Given the description of an element on the screen output the (x, y) to click on. 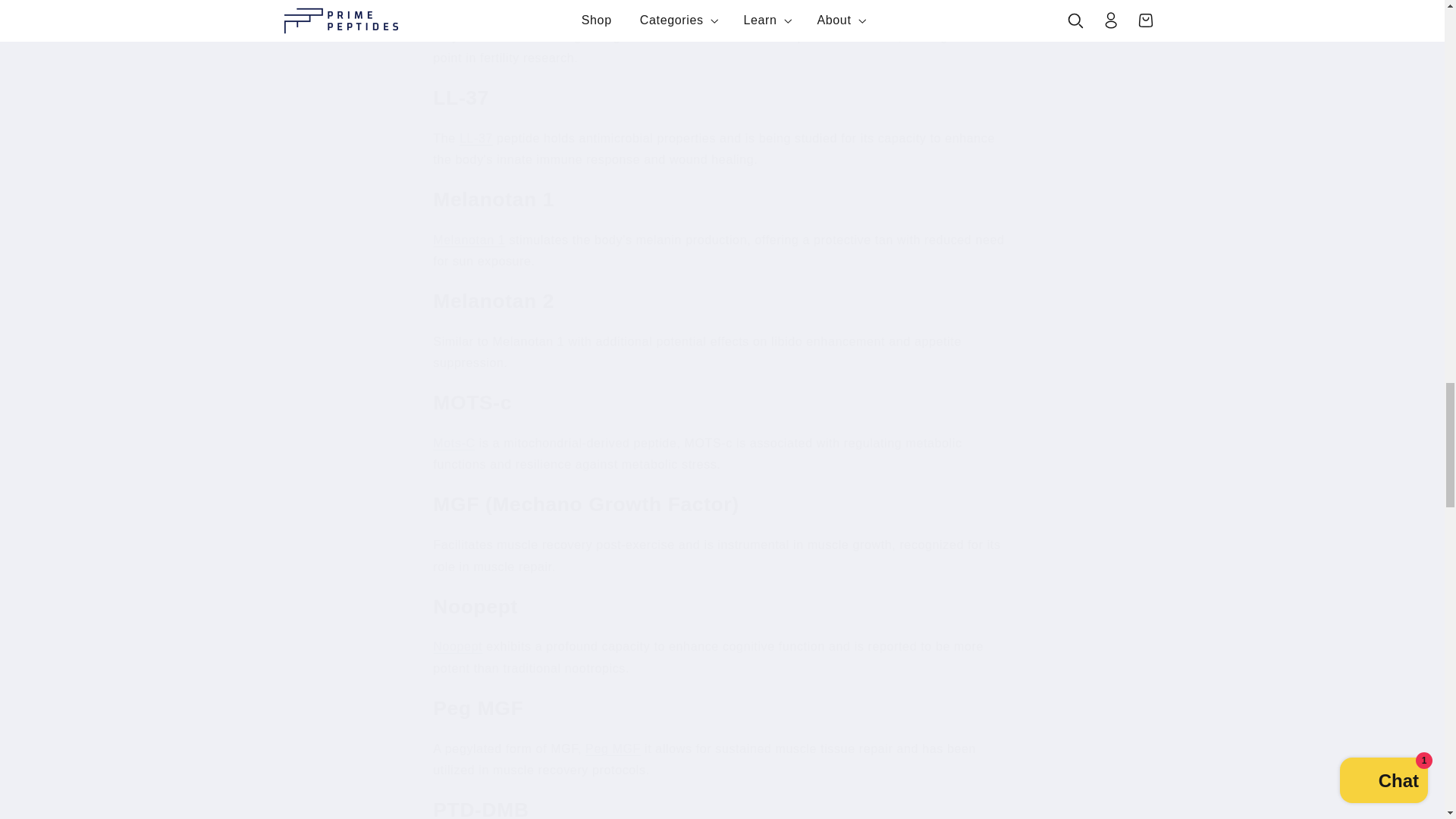
Peg MGF (612, 748)
Buy LL-37 (476, 137)
Noopept (456, 645)
Melanotan 1 (468, 239)
Buy Mots-C (453, 442)
